Given the description of an element on the screen output the (x, y) to click on. 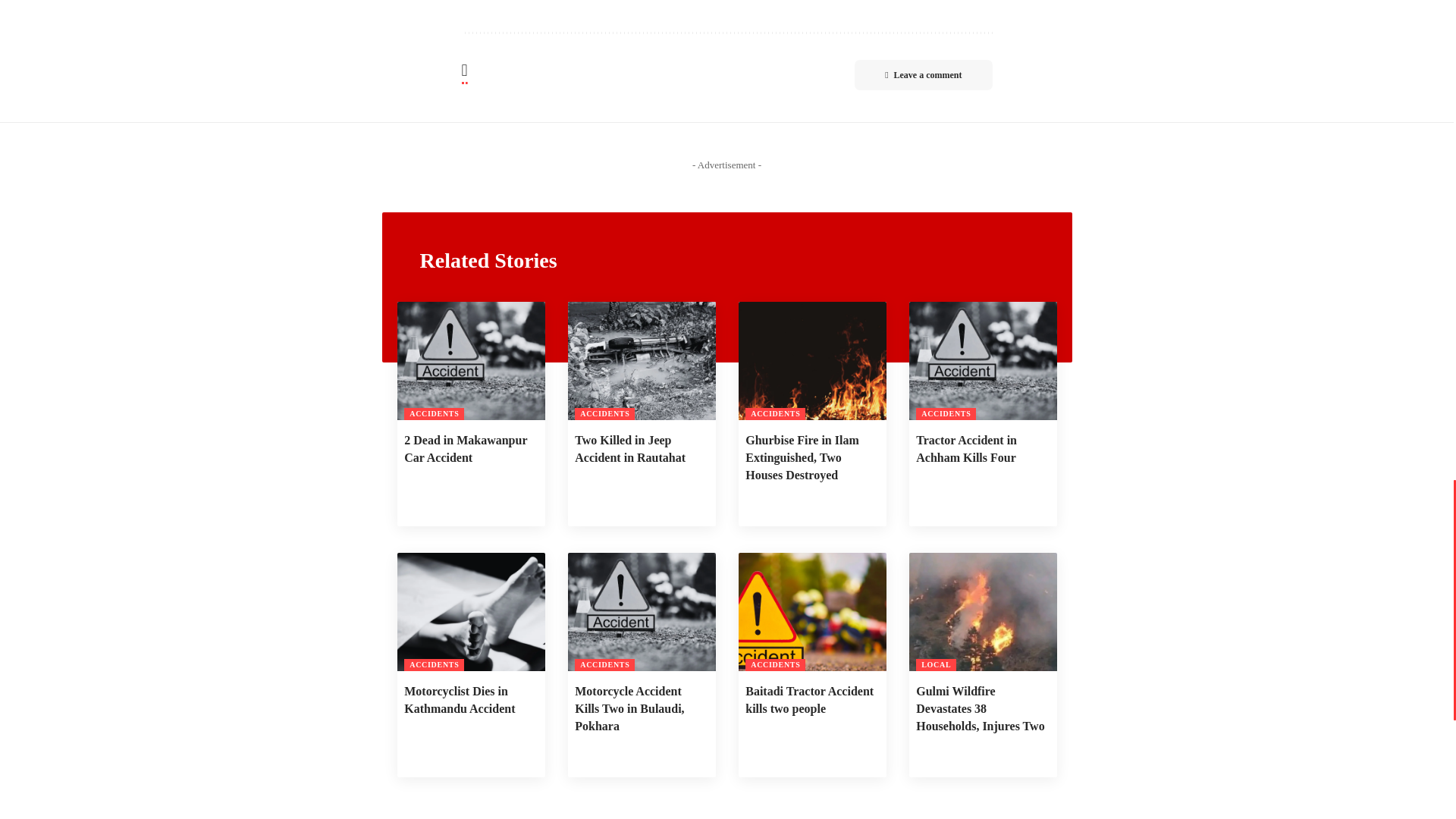
Two Killed in Jeep Accident in Rautahat (640, 361)
Three Injured in Dang Auto Rickshaw Accident (478, 2)
2 Dead in Makawanpur Car Accident (470, 361)
